Given the description of an element on the screen output the (x, y) to click on. 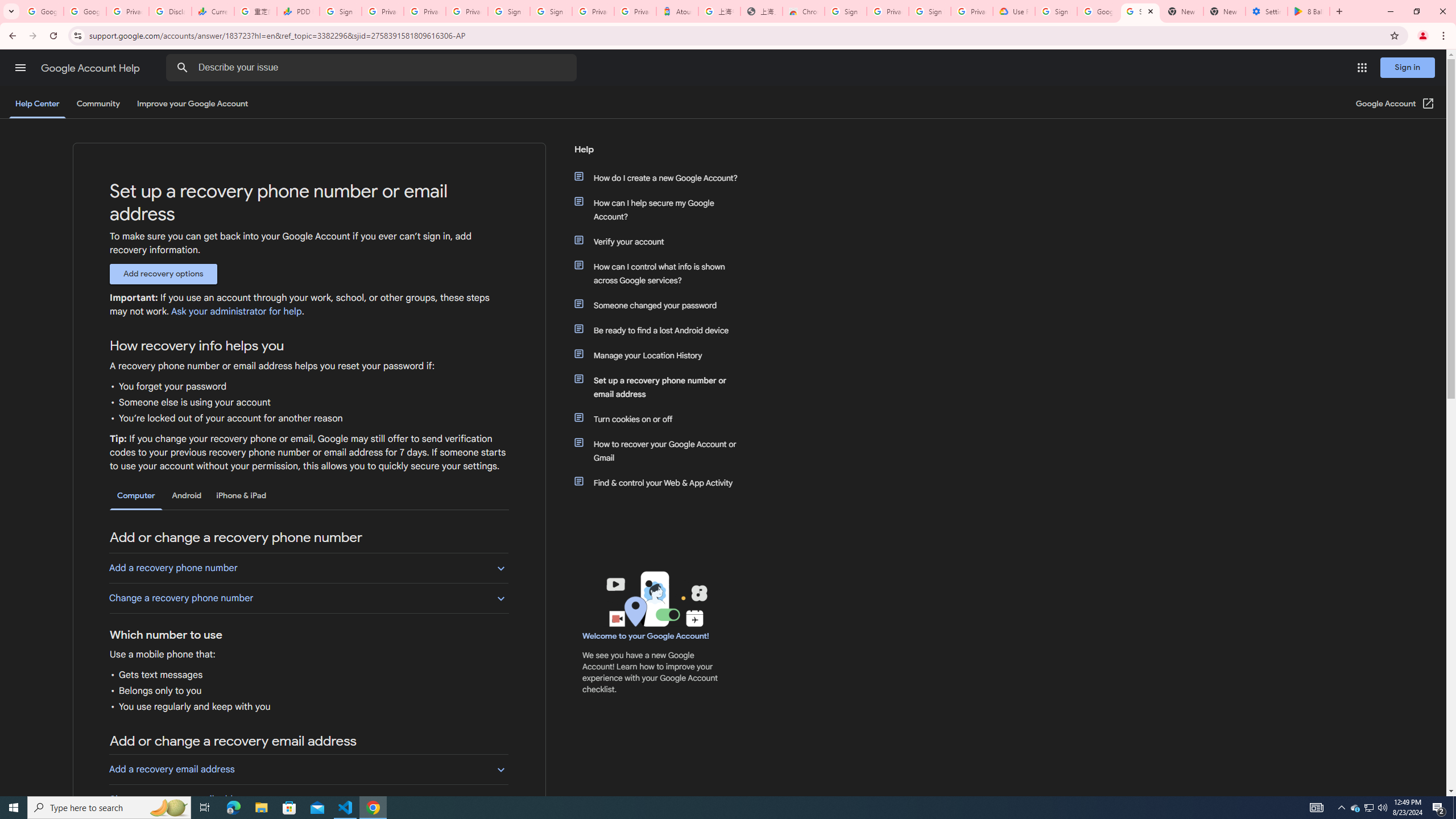
Search Help Center (181, 67)
Google Workspace Admin Community (42, 11)
Sign in - Google Accounts (845, 11)
